Given the description of an element on the screen output the (x, y) to click on. 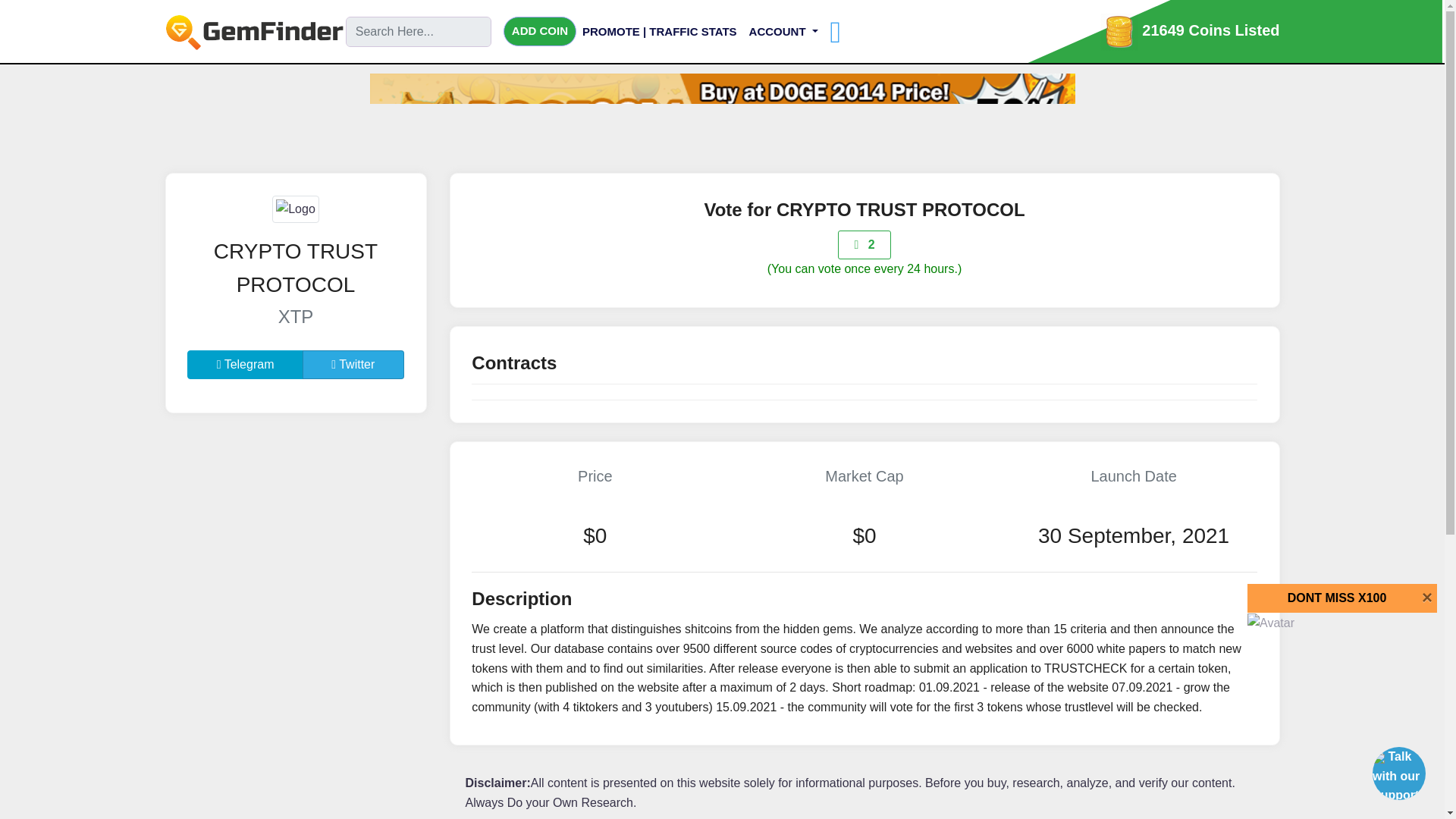
Twitter (353, 364)
Telegram (244, 364)
ACCOUNT (783, 31)
Talk with our Support. (1397, 775)
2 (863, 244)
ADD COIN (539, 30)
